Given the description of an element on the screen output the (x, y) to click on. 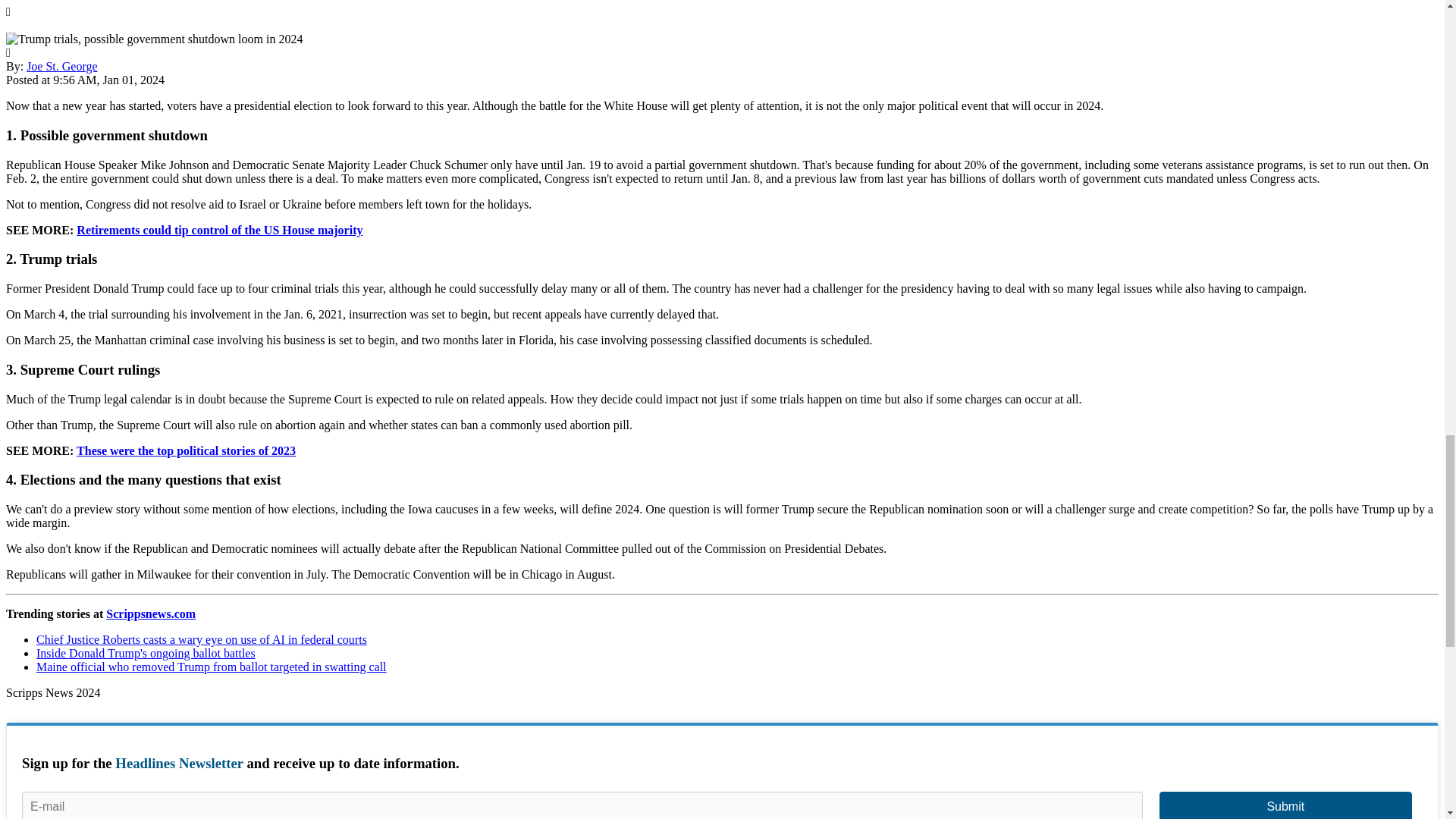
Submit (1284, 805)
